Given the description of an element on the screen output the (x, y) to click on. 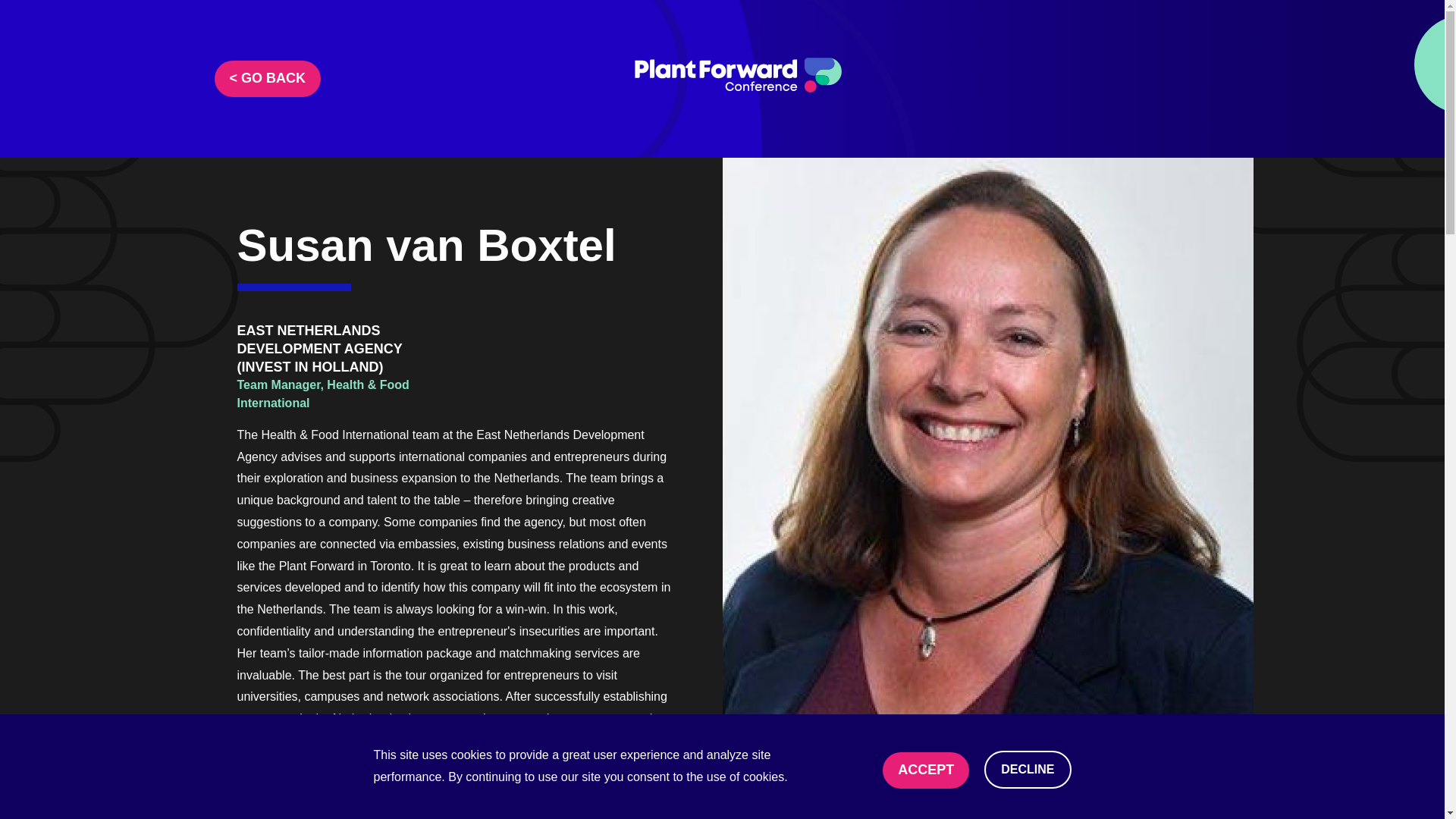
DECLINE (1027, 769)
ACCEPT (925, 770)
